Given the description of an element on the screen output the (x, y) to click on. 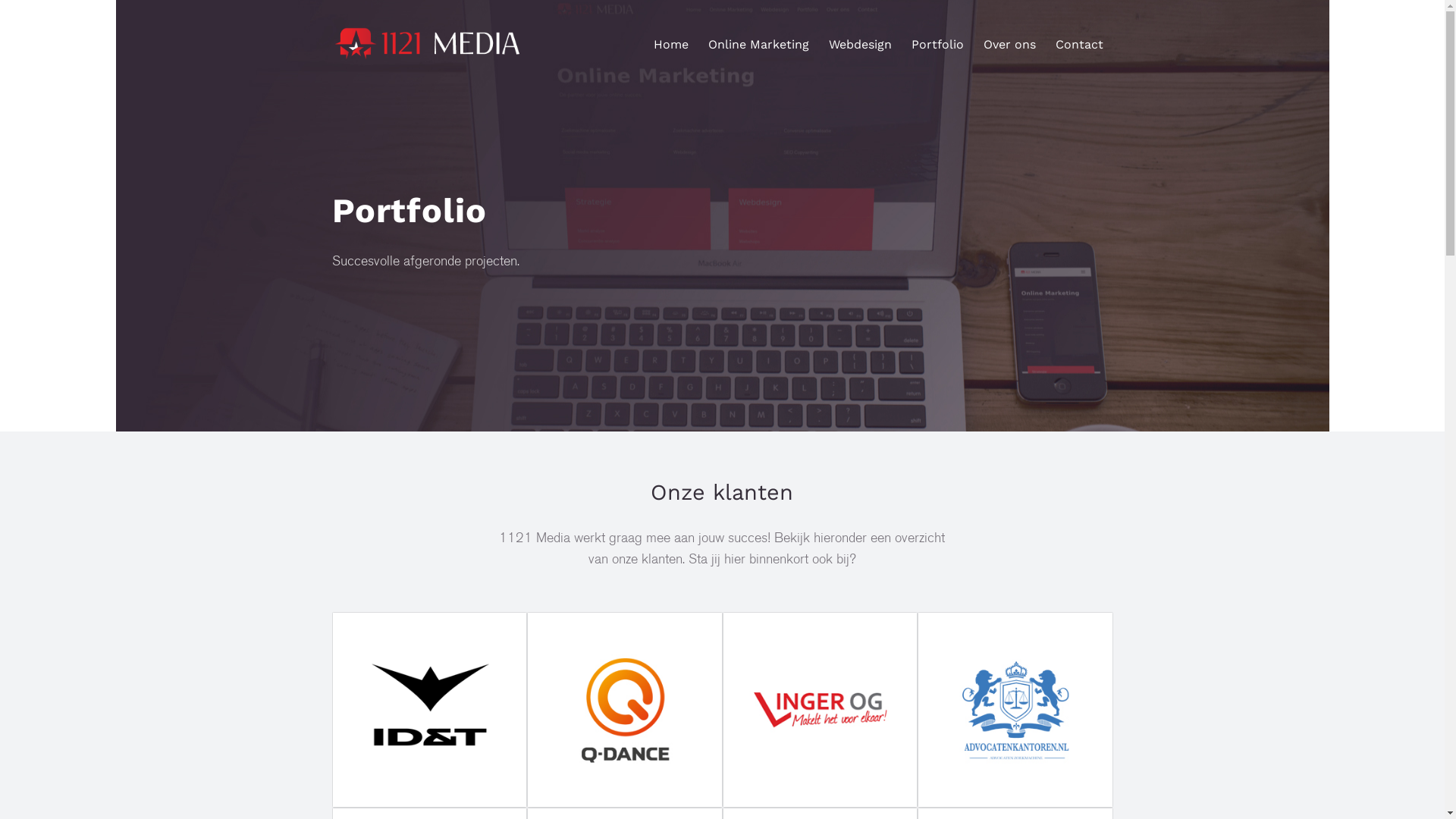
Home Element type: text (670, 44)
Over ons Element type: text (1009, 44)
Webdesign Element type: text (860, 44)
Contact Element type: text (1078, 44)
Advocatenkantoren.nl Element type: hover (1015, 709)
Portfolio Element type: text (936, 44)
Online Marketing Element type: text (757, 44)
